Given the description of an element on the screen output the (x, y) to click on. 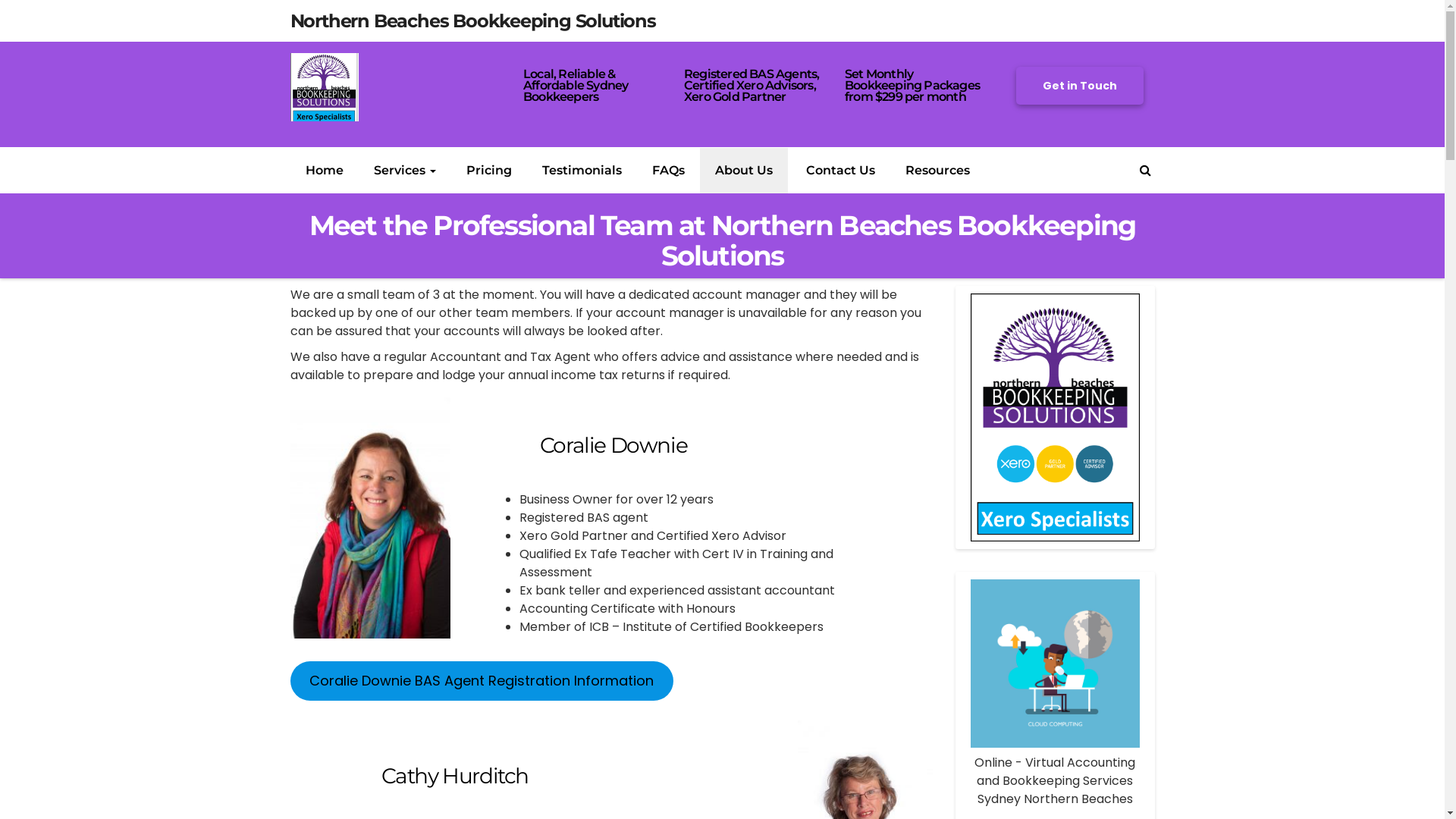
 Contact Us Element type: text (838, 170)
Pricing Element type: text (488, 170)
Services Element type: text (403, 170)
Resources Element type: text (937, 170)
Coralie Downie BAS Agent Registration Information Element type: text (481, 680)
Home Element type: text (323, 170)
About Us Element type: text (743, 170)
FAQs Element type: text (668, 170)
Get in Touch Element type: text (1079, 85)
Testimonials Element type: text (581, 170)
